Given the description of an element on the screen output the (x, y) to click on. 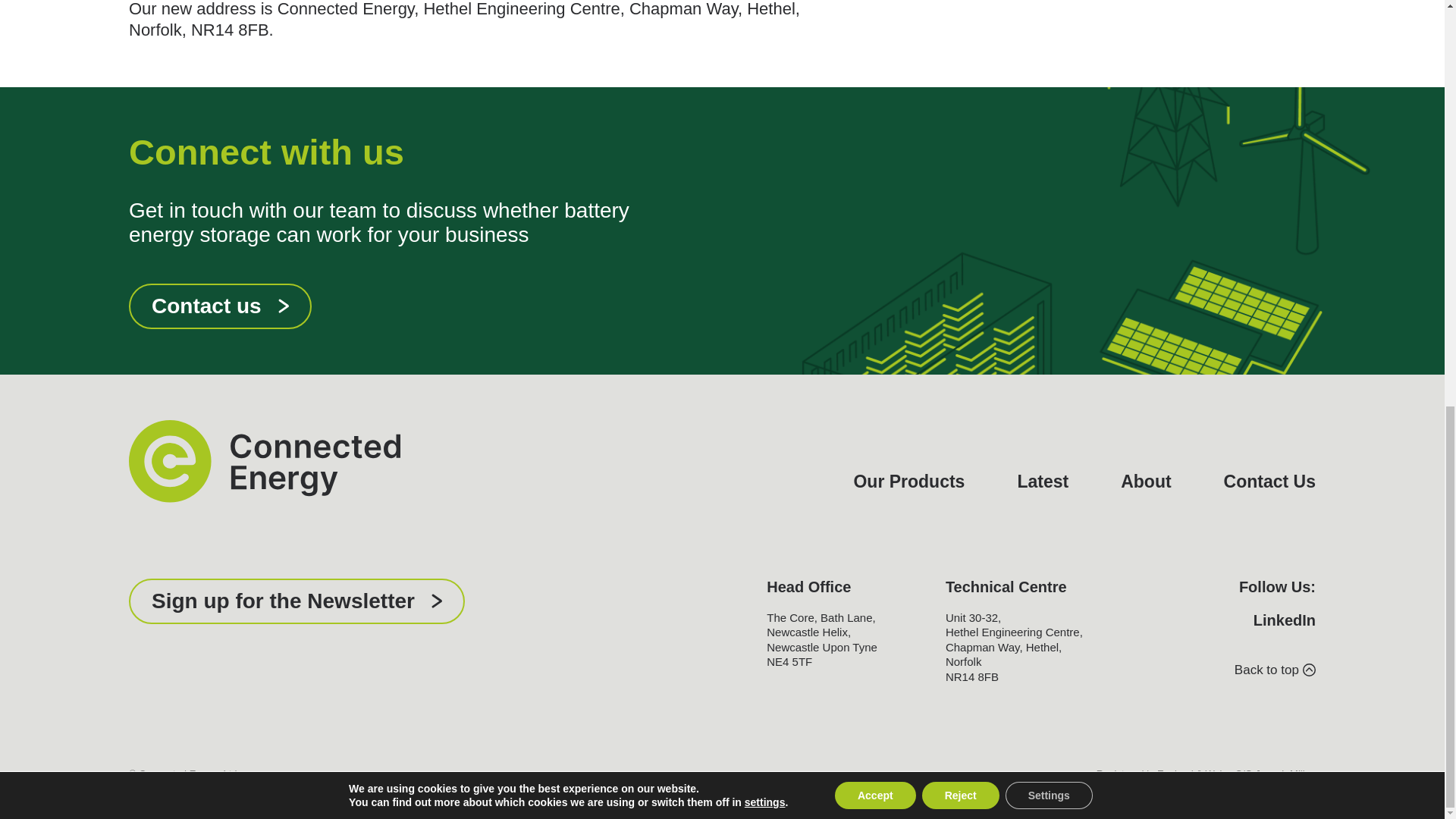
Connected Energy home page (264, 461)
